Given the description of an element on the screen output the (x, y) to click on. 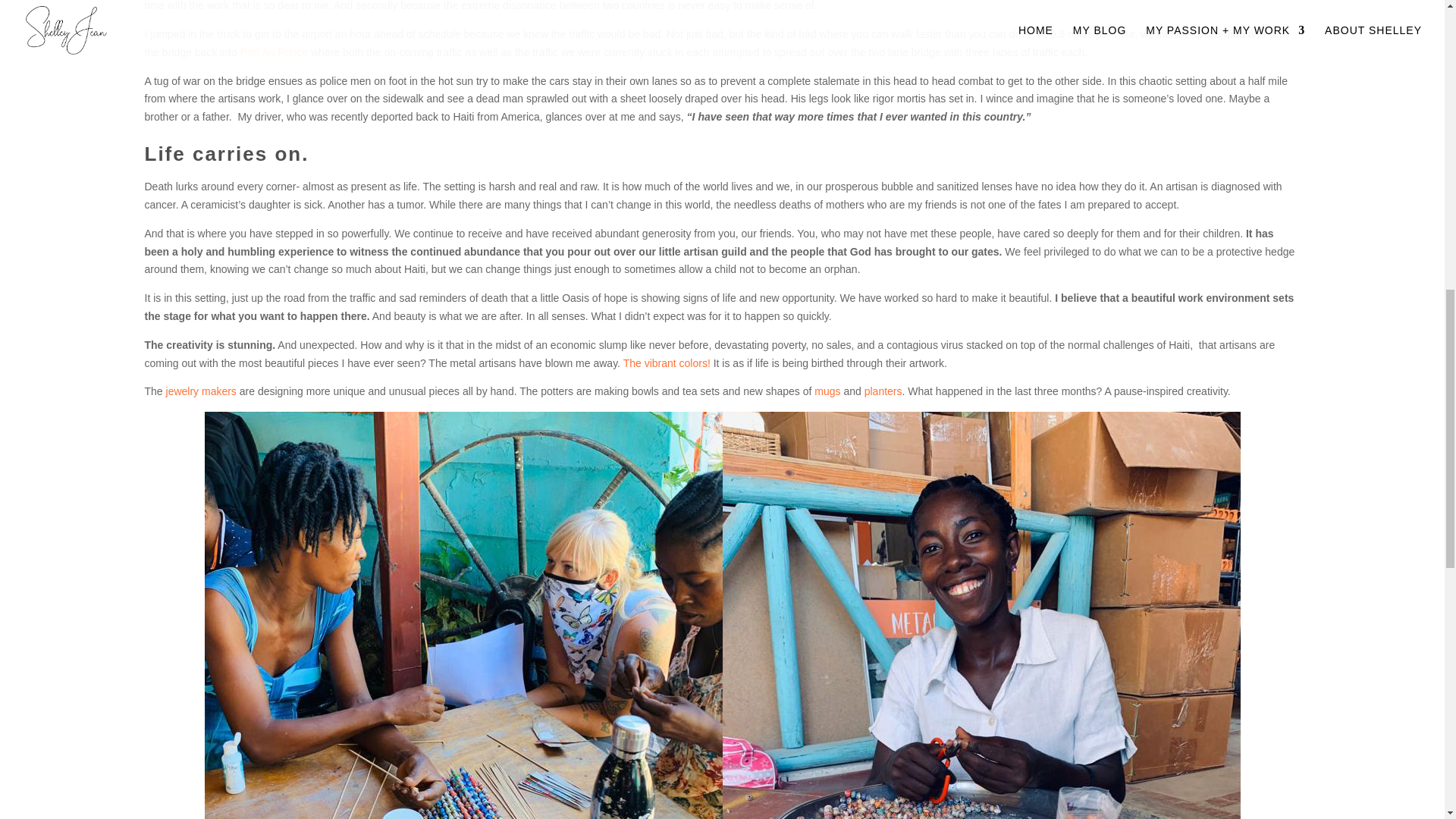
mugs (826, 390)
The vibrant colors! (666, 363)
planters (883, 390)
Port Au Prince (274, 51)
jewelry makers (200, 390)
